Given the description of an element on the screen output the (x, y) to click on. 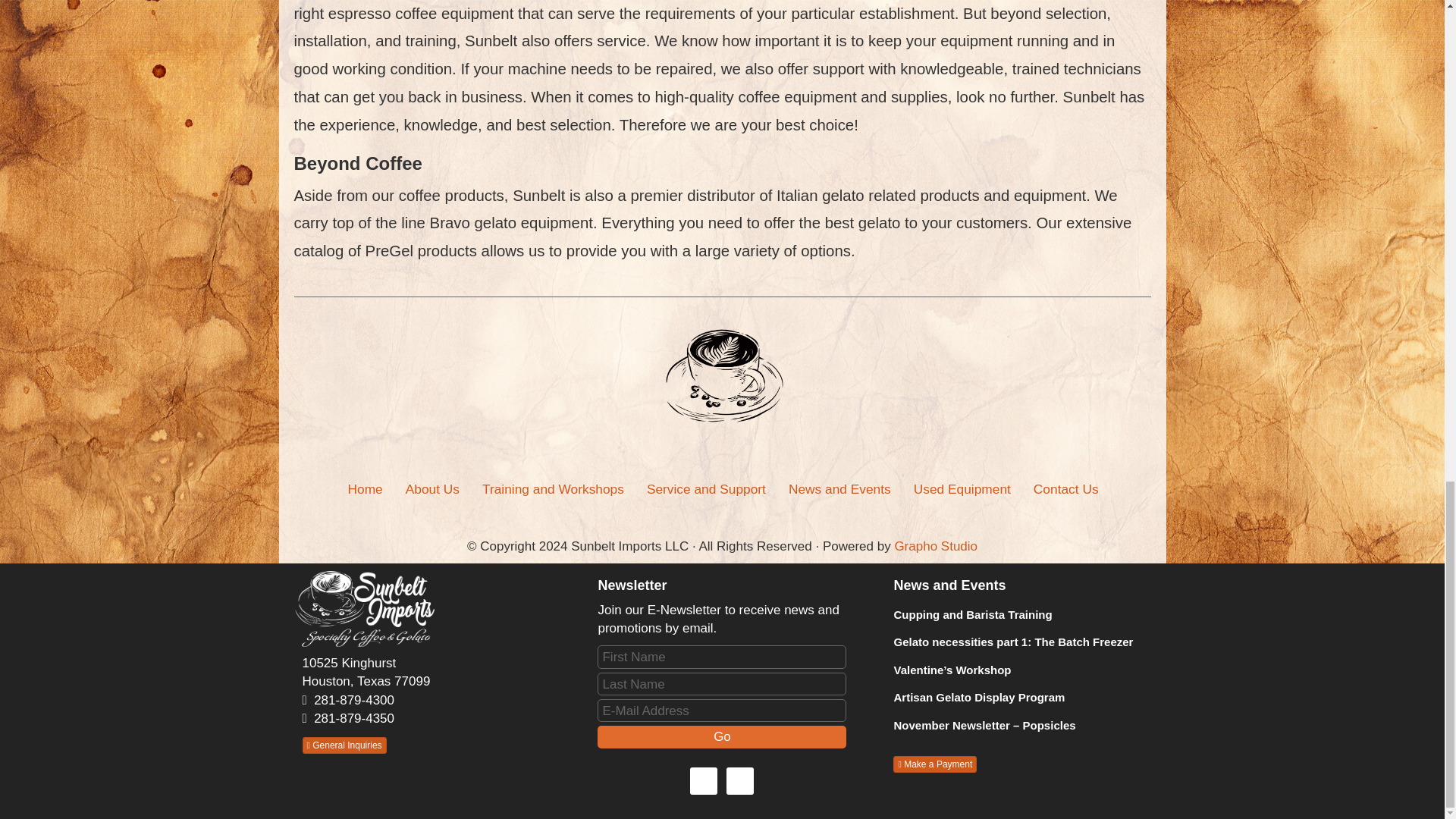
News and Events (839, 488)
Contact Us (1065, 488)
Training and Workshops (552, 488)
About Us (432, 488)
Go (720, 736)
Used Equipment (962, 488)
General Inquiries (343, 744)
Make a Payment (934, 764)
General Inquiries (343, 745)
Grapho Studio (934, 545)
Home (365, 488)
Cupping and Barista Training (972, 614)
Go (720, 736)
Gelato necessities part 1: The Batch Freezer (1012, 641)
Artisan Gelato Display Program (978, 697)
